Given the description of an element on the screen output the (x, y) to click on. 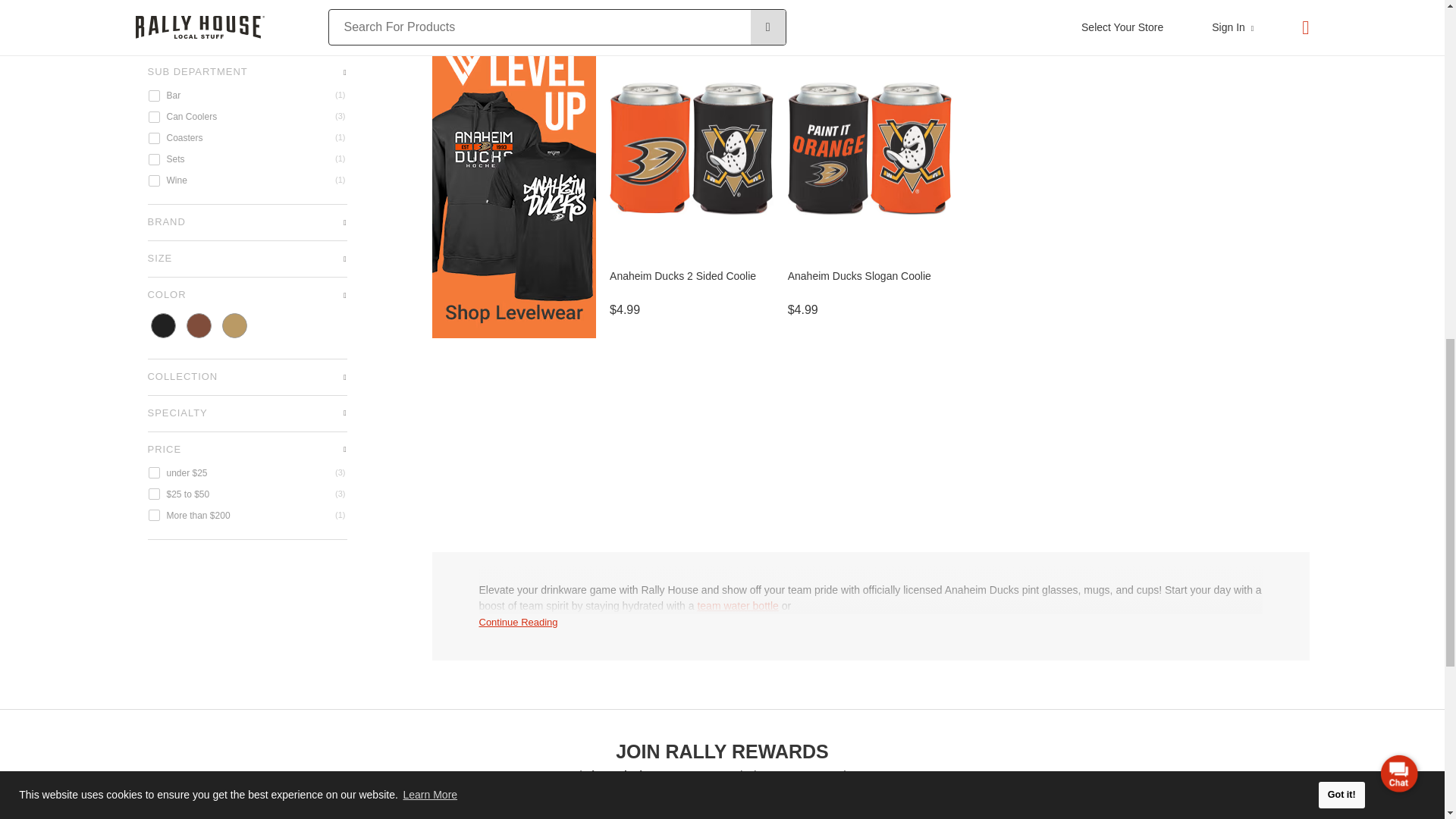
View Anaheim Ducks Whiskey Box Drink Set (693, 5)
View Anaheim Ducks Gameday Rock Glass (515, 5)
View Anaheim Ducks 2 Bottle Insulated Bag Wine Accessory (1048, 5)
